Given the description of an element on the screen output the (x, y) to click on. 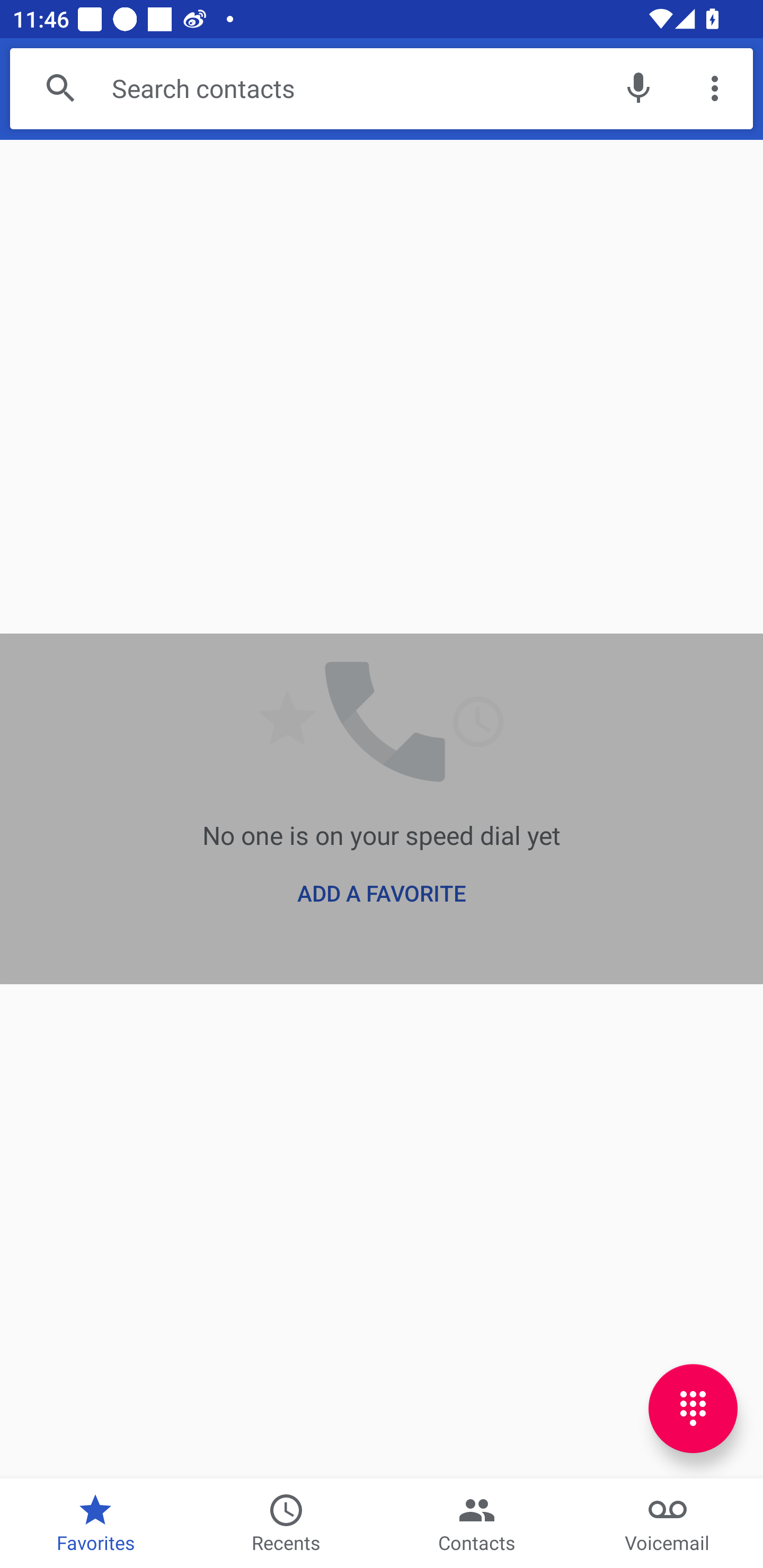
Search contacts Start voice search More options (381, 88)
Start voice search (638, 88)
More options (714, 88)
No one is on your speed dial yet ADD A FAVORITE (381, 808)
ADD A FAVORITE (380, 892)
key pad (692, 1408)
Favorites (95, 1523)
Recents (285, 1523)
Contacts (476, 1523)
Voicemail (667, 1523)
